Given the description of an element on the screen output the (x, y) to click on. 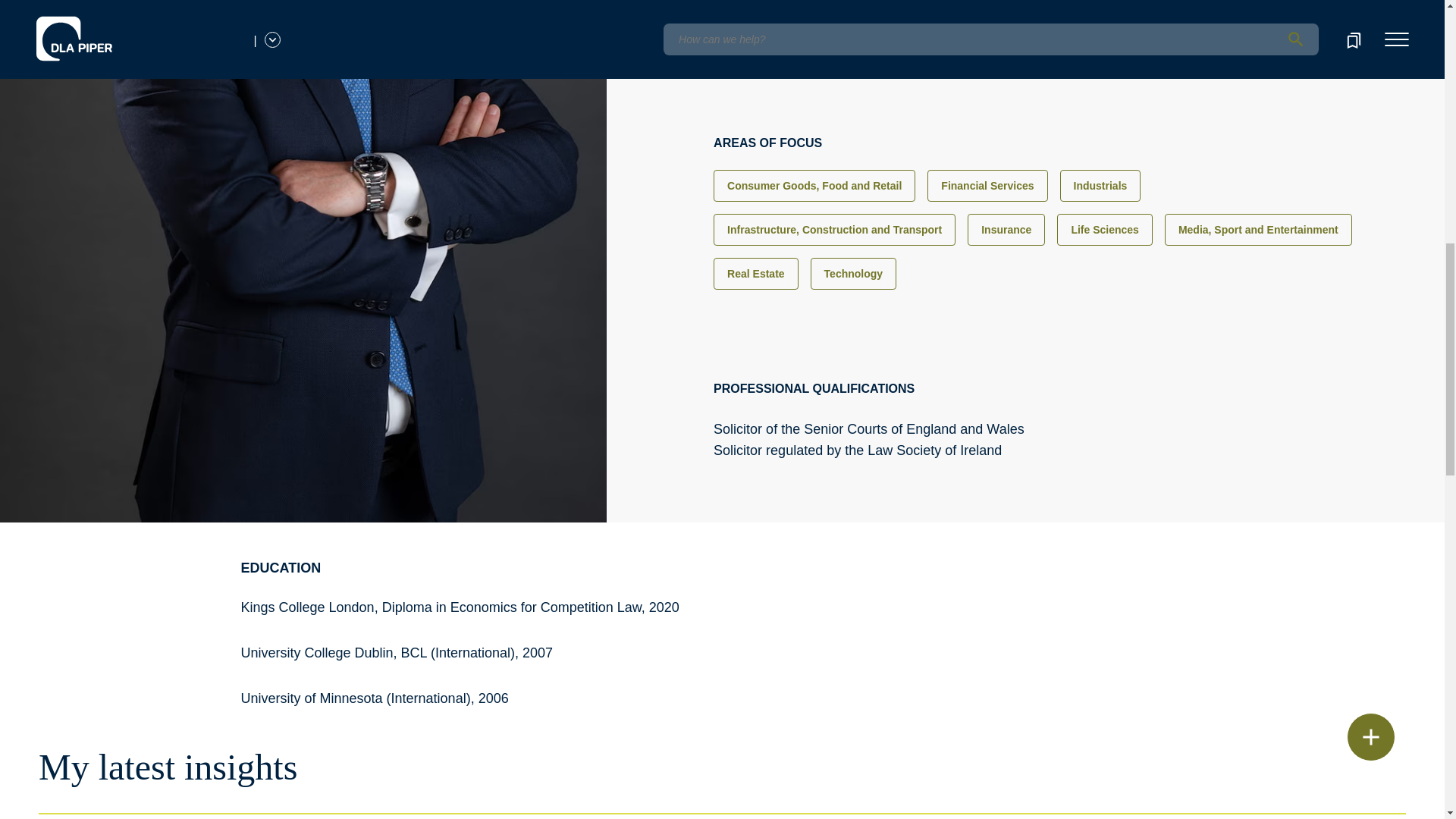
Infrastructure, Construction and Transport (834, 229)
Consumer Goods, Food and Retail (814, 185)
Financial Services (986, 185)
Insurance (1006, 229)
READ MORE (764, 31)
Industrials (1100, 185)
